Given the description of an element on the screen output the (x, y) to click on. 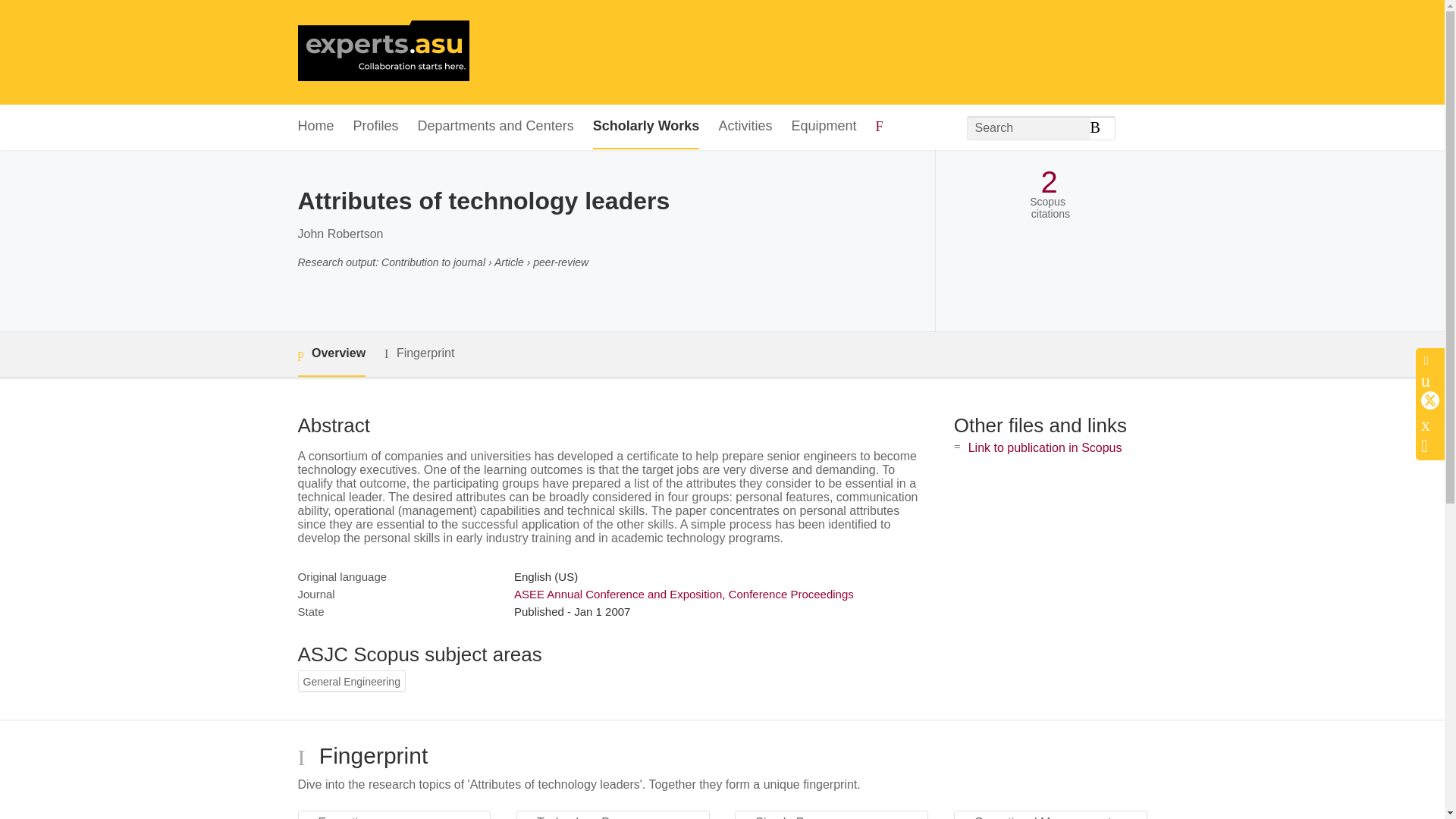
Departments and Centers (495, 126)
Fingerprint (419, 353)
Activities (744, 126)
Overview (331, 354)
Equipment (823, 126)
Scholarly Works (646, 126)
Profiles (375, 126)
Link to publication in Scopus (1045, 447)
